Given the description of an element on the screen output the (x, y) to click on. 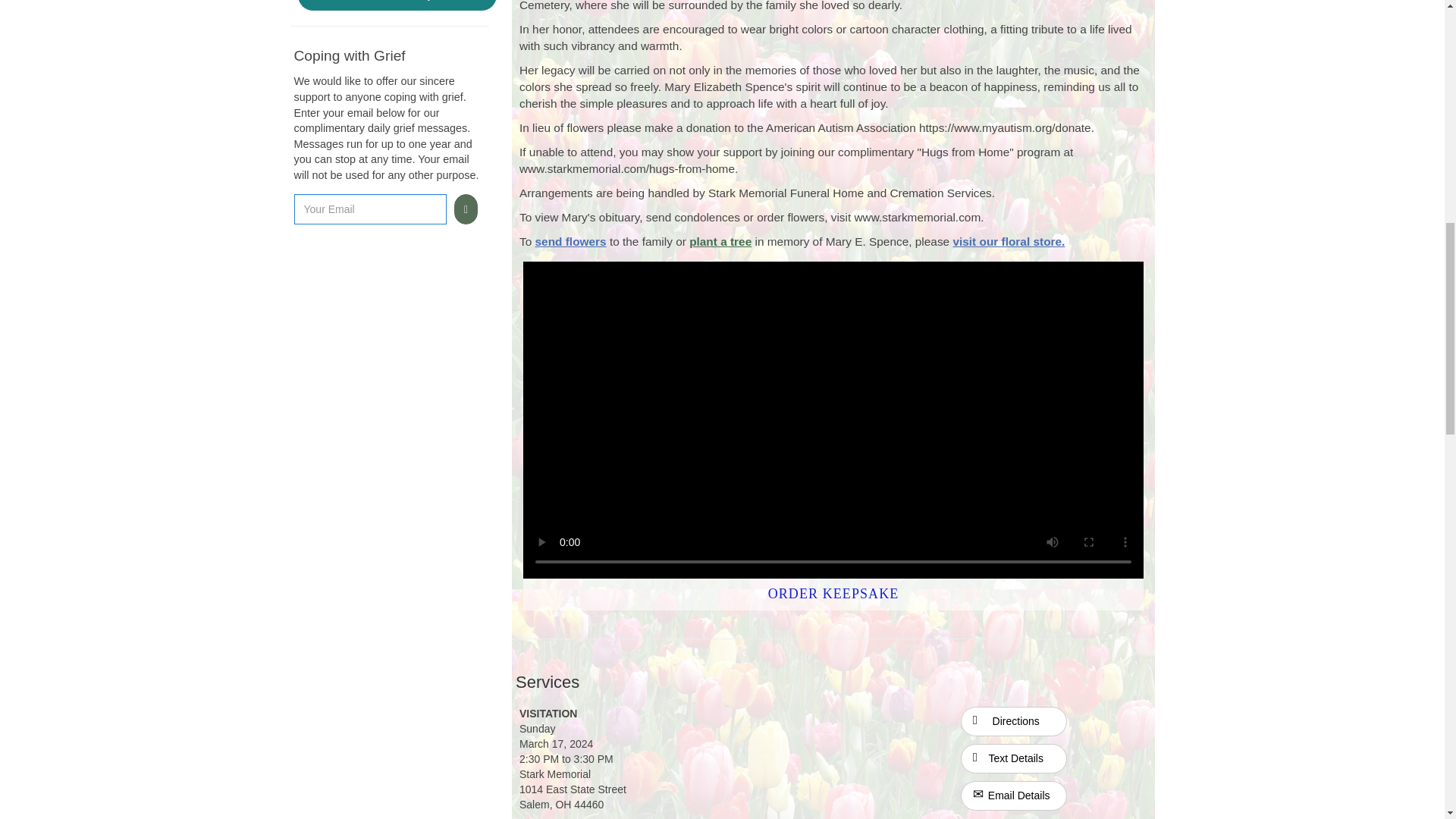
Directions (1013, 721)
visit our floral store. (1008, 241)
Email Details (1013, 795)
plant a tree (719, 241)
Directions (1013, 720)
Text Details (1013, 758)
Share Obituary (396, 5)
send flowers (571, 241)
